Given the description of an element on the screen output the (x, y) to click on. 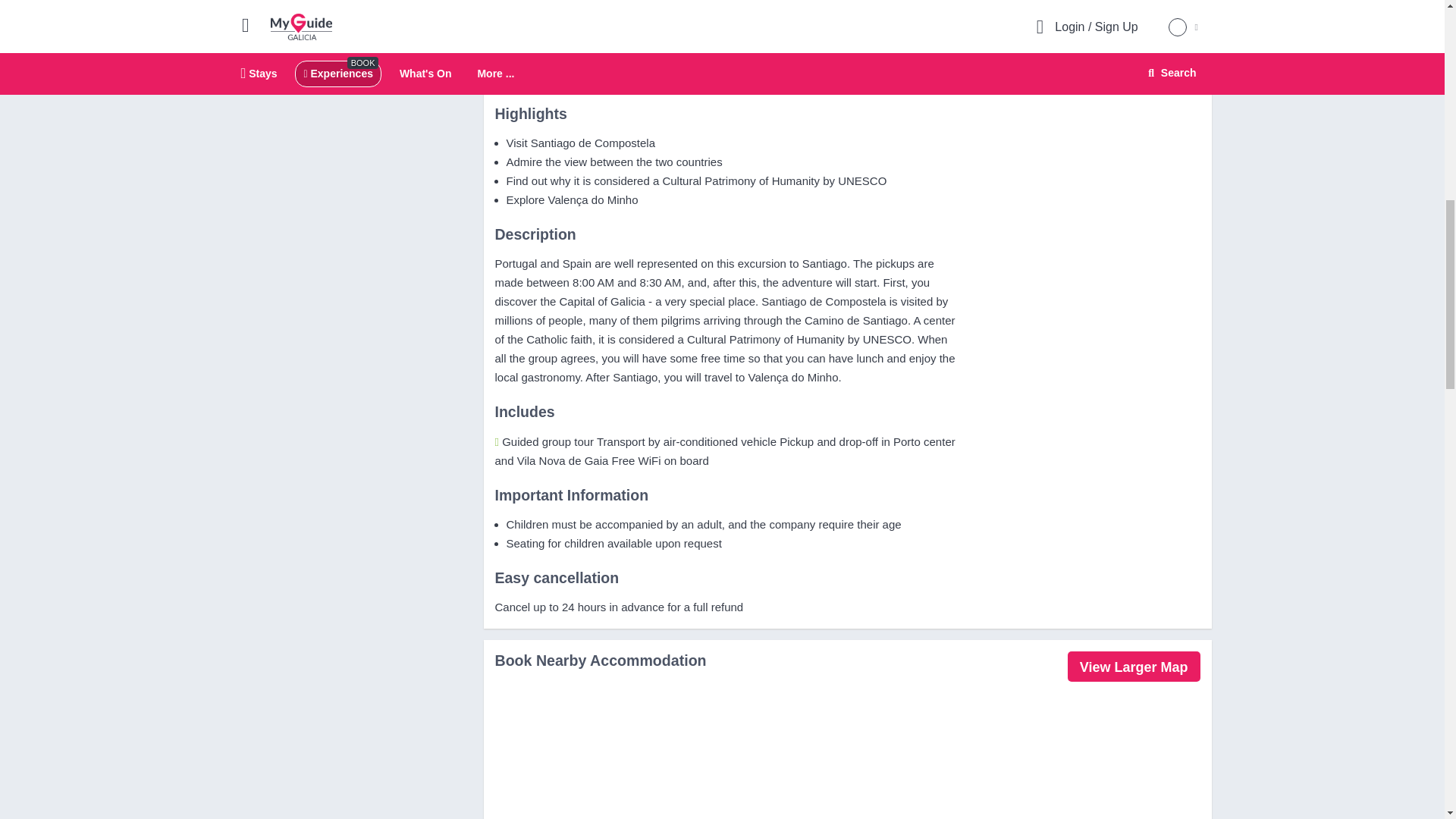
View All Experiences (570, 31)
